Given the description of an element on the screen output the (x, y) to click on. 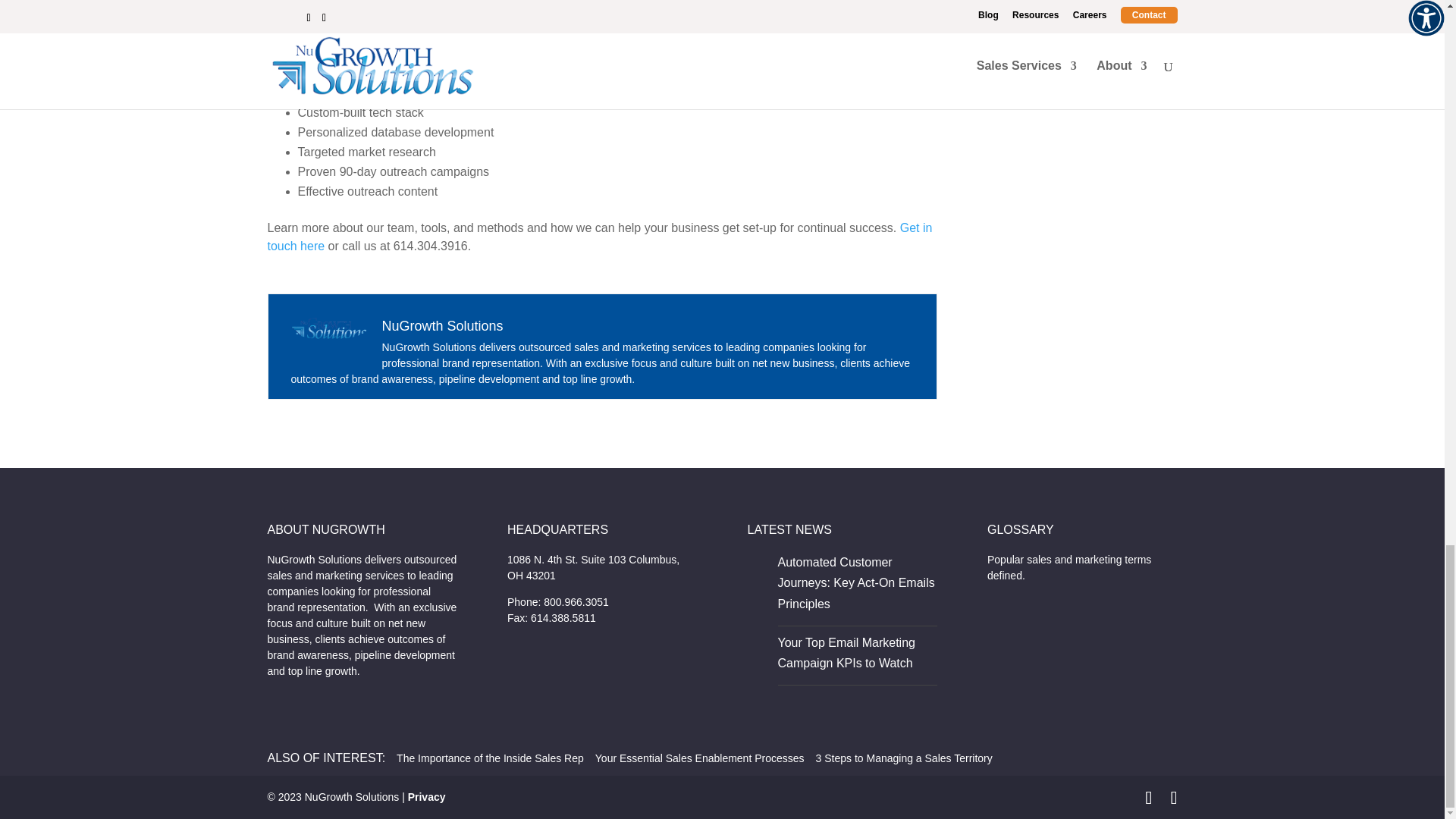
NuGrowth Solutions (442, 325)
Get in touch here (598, 236)
